Given the description of an element on the screen output the (x, y) to click on. 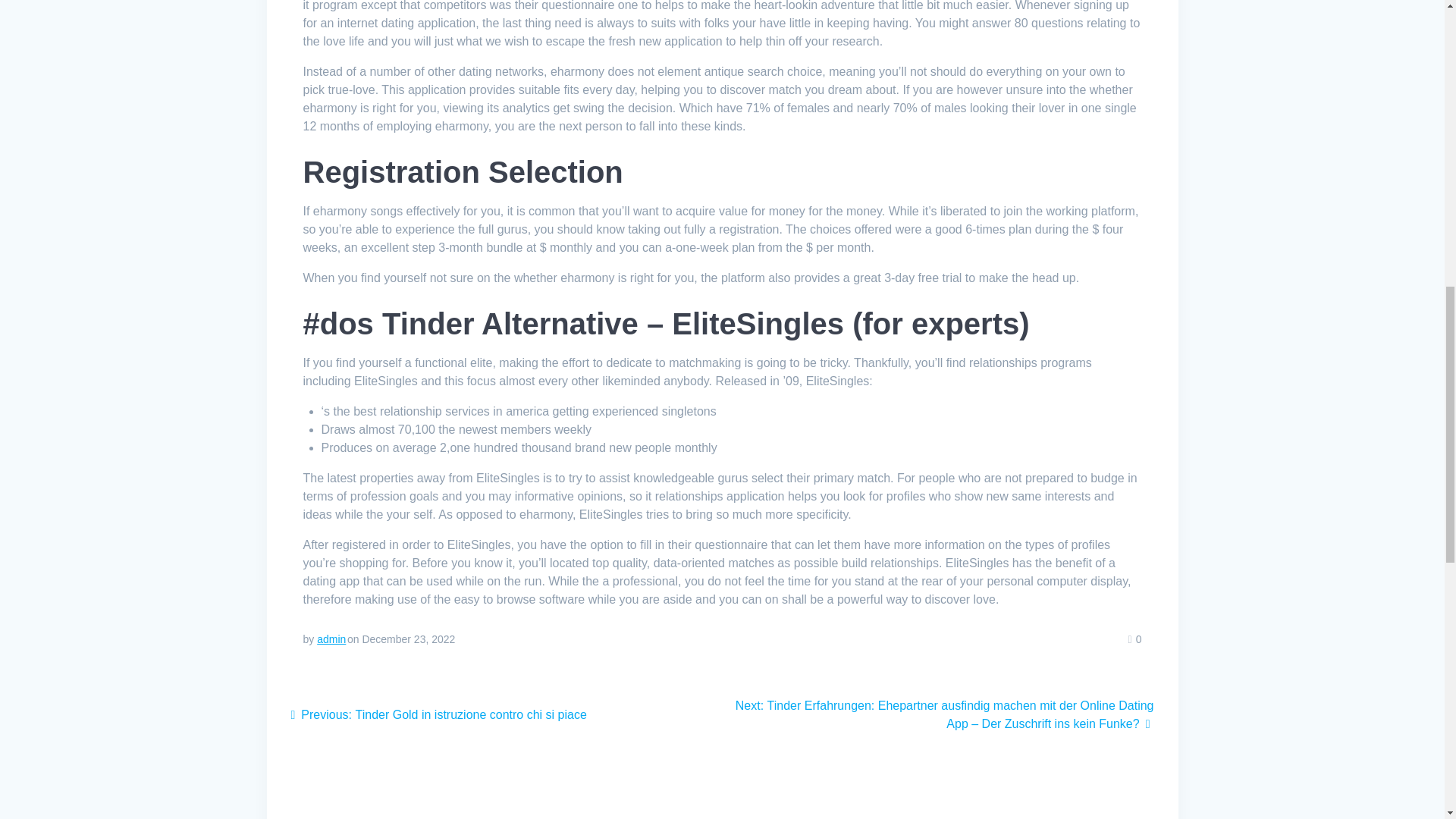
admin (331, 639)
Posts by admin (331, 639)
